Given the description of an element on the screen output the (x, y) to click on. 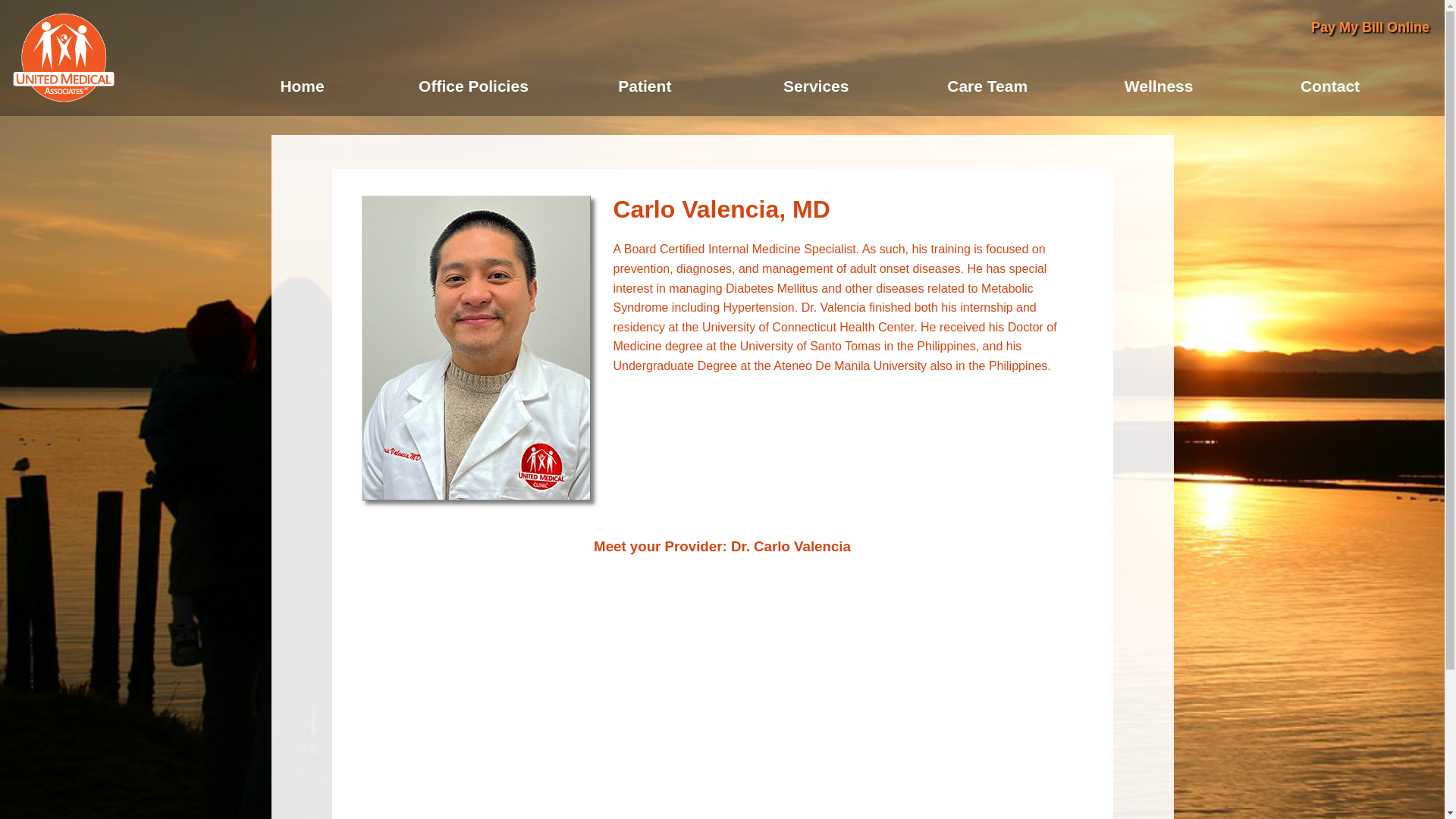
Care Team (986, 86)
Office Policies (472, 86)
Contact (1329, 86)
Wellness (1158, 86)
Carlo Valencia, MD, video (721, 688)
Patient (644, 86)
Home (302, 86)
Services (815, 86)
Pay My Bill Online (1370, 27)
